Given the description of an element on the screen output the (x, y) to click on. 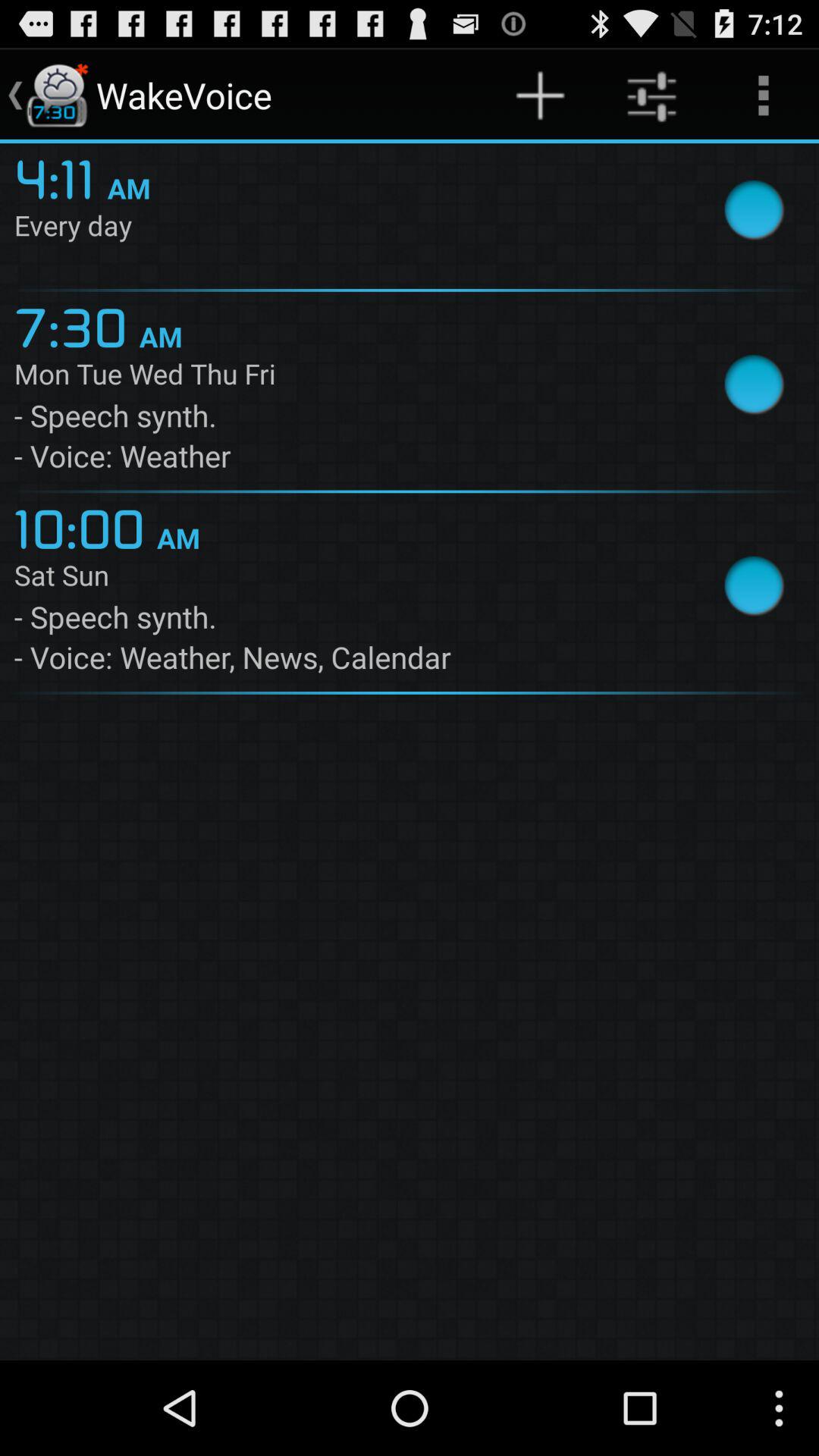
launch icon to the left of the am (60, 176)
